Given the description of an element on the screen output the (x, y) to click on. 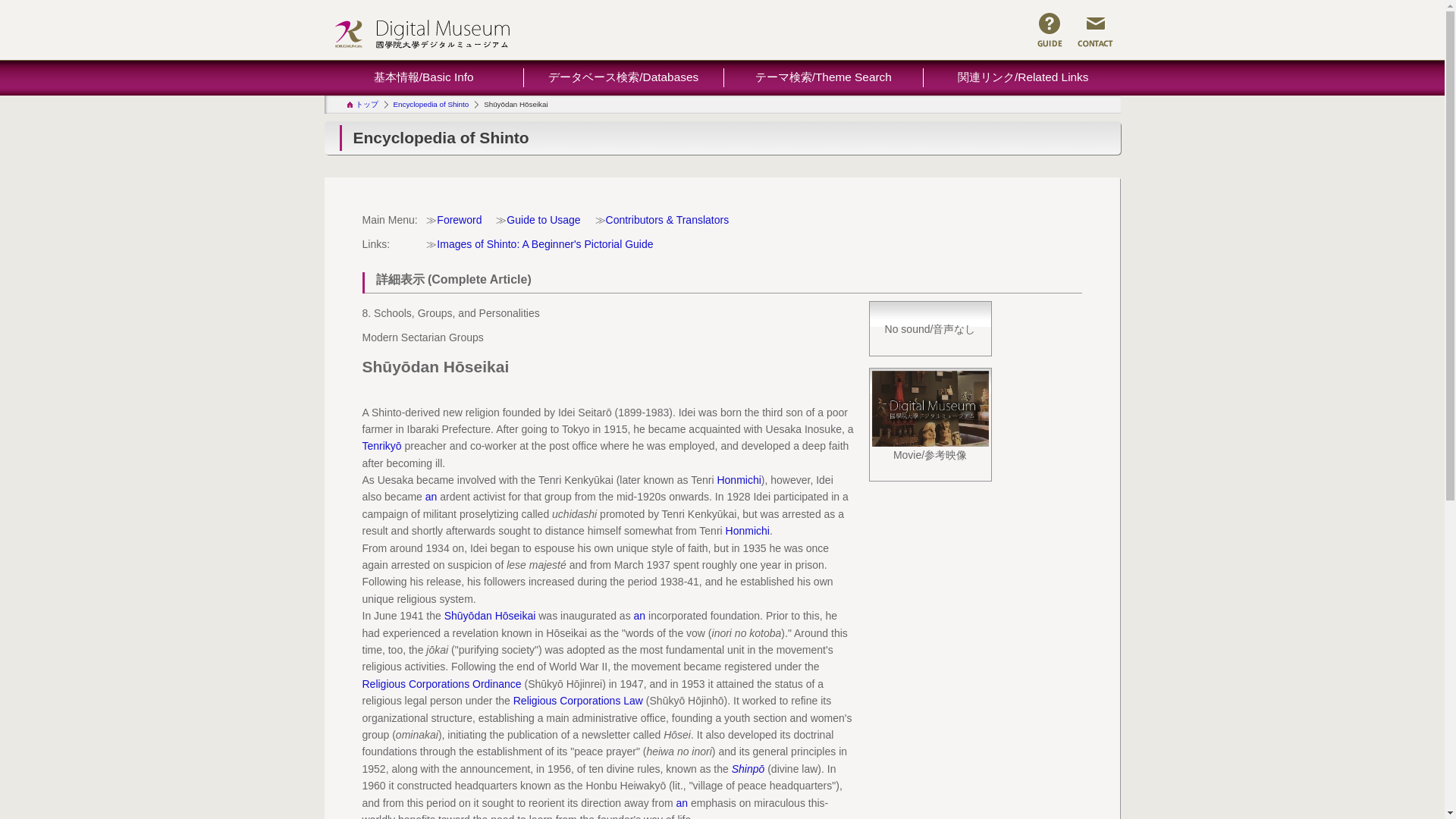
Images of Shinto: A Beginner's Pictorial Guide (544, 244)
an (681, 802)
Honmichi (747, 530)
an (639, 615)
Guide to Usage (542, 219)
Encyclopedia of Shinto (430, 103)
an (431, 496)
Religious Corporations Law (578, 700)
Foreword (458, 219)
Religious Corporations Ordinance (441, 684)
